Given the description of an element on the screen output the (x, y) to click on. 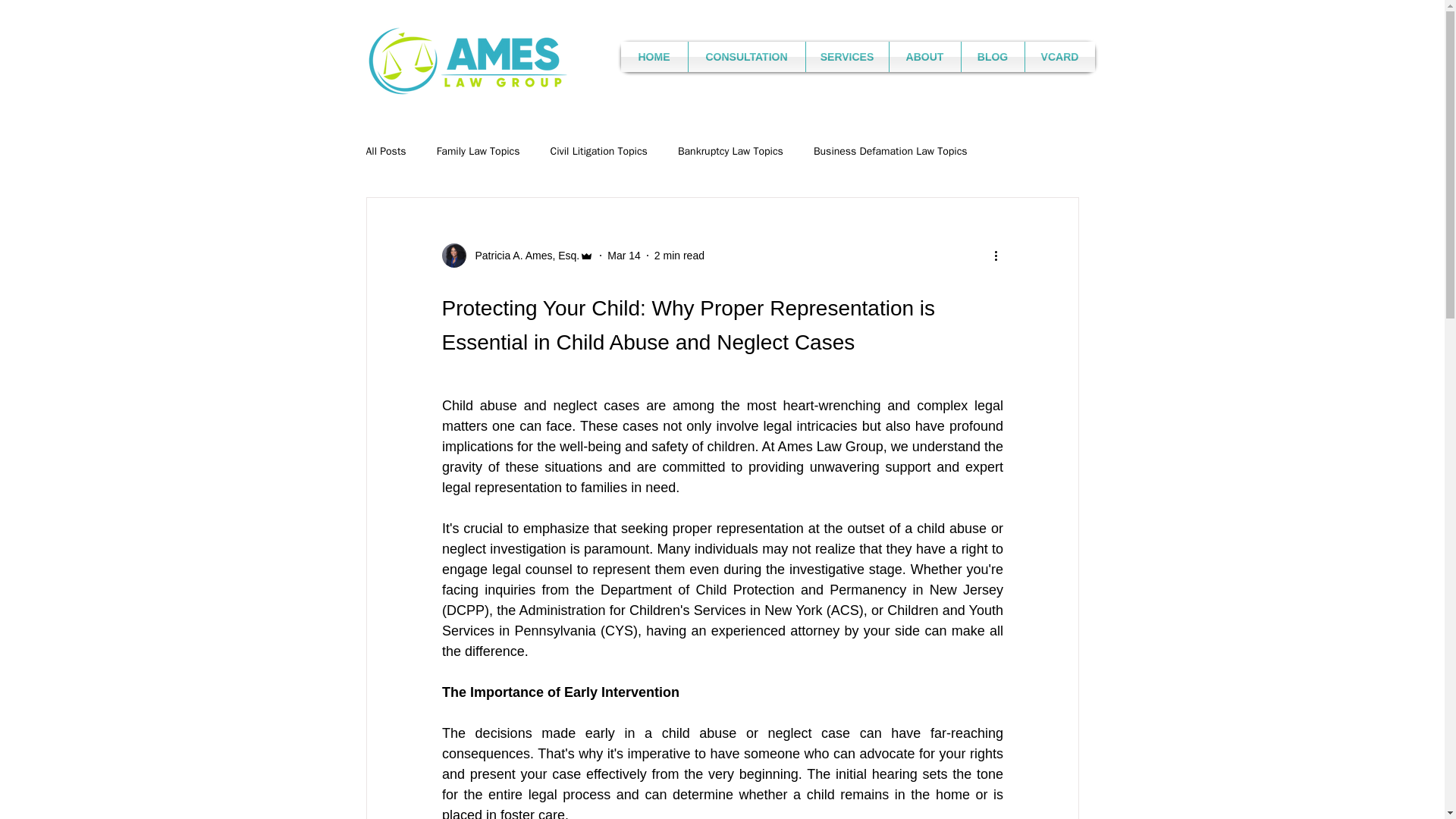
SERVICES (846, 56)
VCARD (1059, 56)
Patricia A. Ames, Esq. (517, 255)
2 min read (678, 254)
Mar 14 (623, 254)
Business Defamation Law Topics (890, 151)
Family Law Topics (477, 151)
Bankruptcy Law Topics (730, 151)
BLOG (992, 56)
Civil Litigation Topics (598, 151)
